Given the description of an element on the screen output the (x, y) to click on. 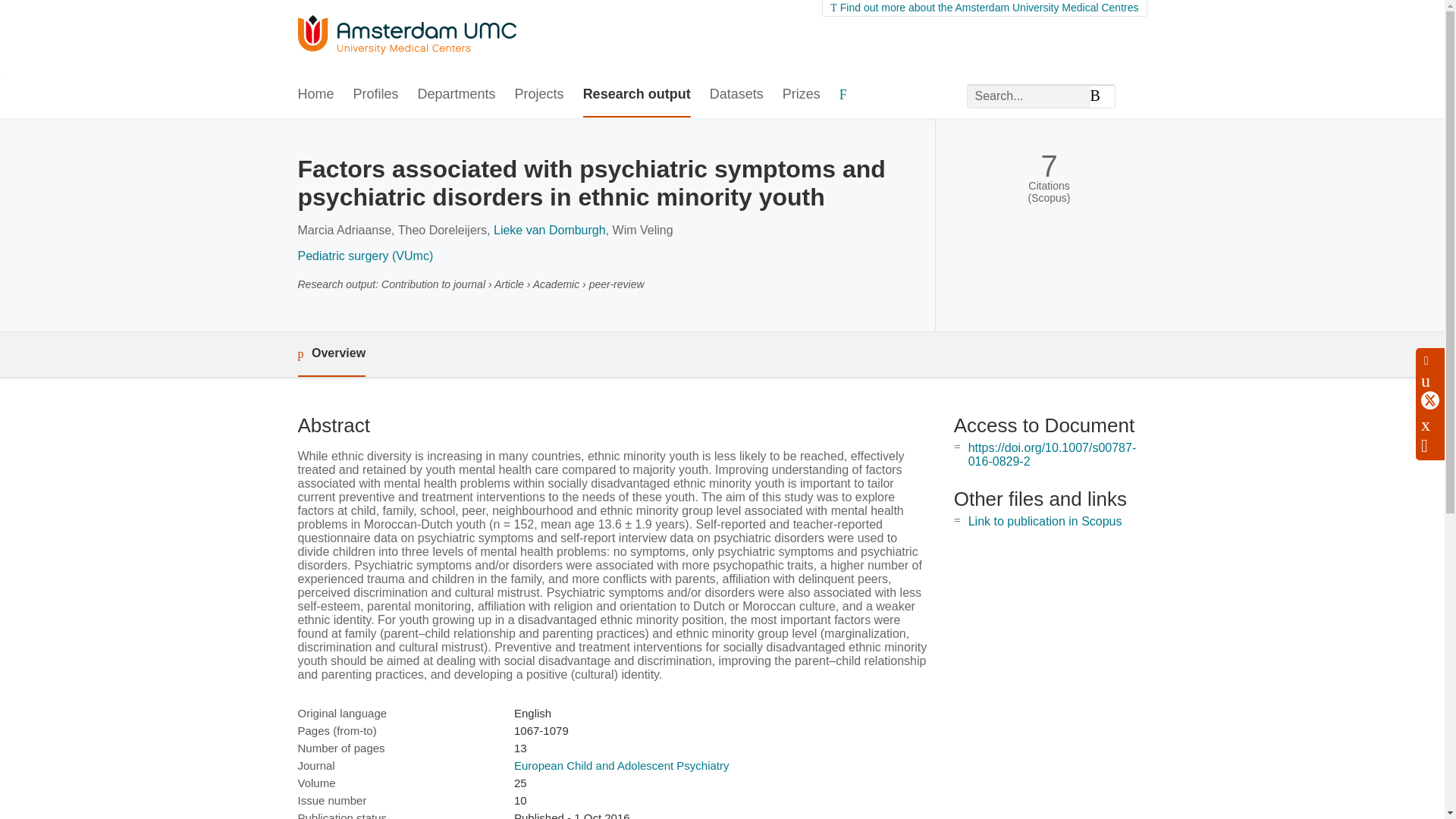
Research output (636, 94)
Link to publication in Scopus (1045, 521)
Profiles (375, 94)
Departments (456, 94)
Projects (539, 94)
Lieke van Domburgh (549, 229)
Overview (331, 354)
Datasets (736, 94)
Amsterdam UMC research portal Home (406, 36)
